Given the description of an element on the screen output the (x, y) to click on. 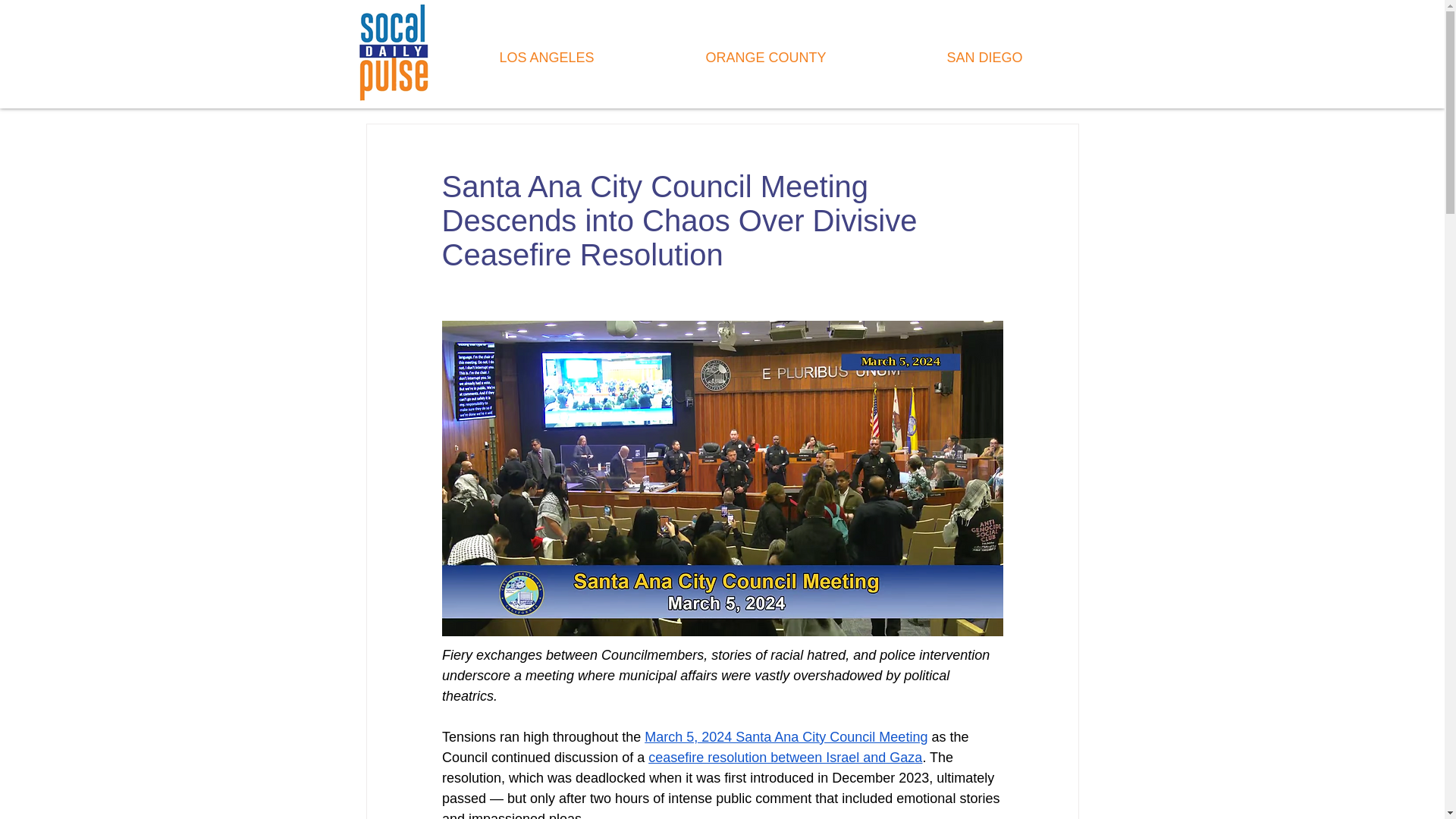
ORANGE COUNTY (766, 57)
March 5, 2024 Santa Ana City Council Meeting (786, 736)
ceasefire resolution between Israel and Gaza (784, 757)
LOS ANGELES (546, 57)
SAN DIEGO (984, 57)
